Given the description of an element on the screen output the (x, y) to click on. 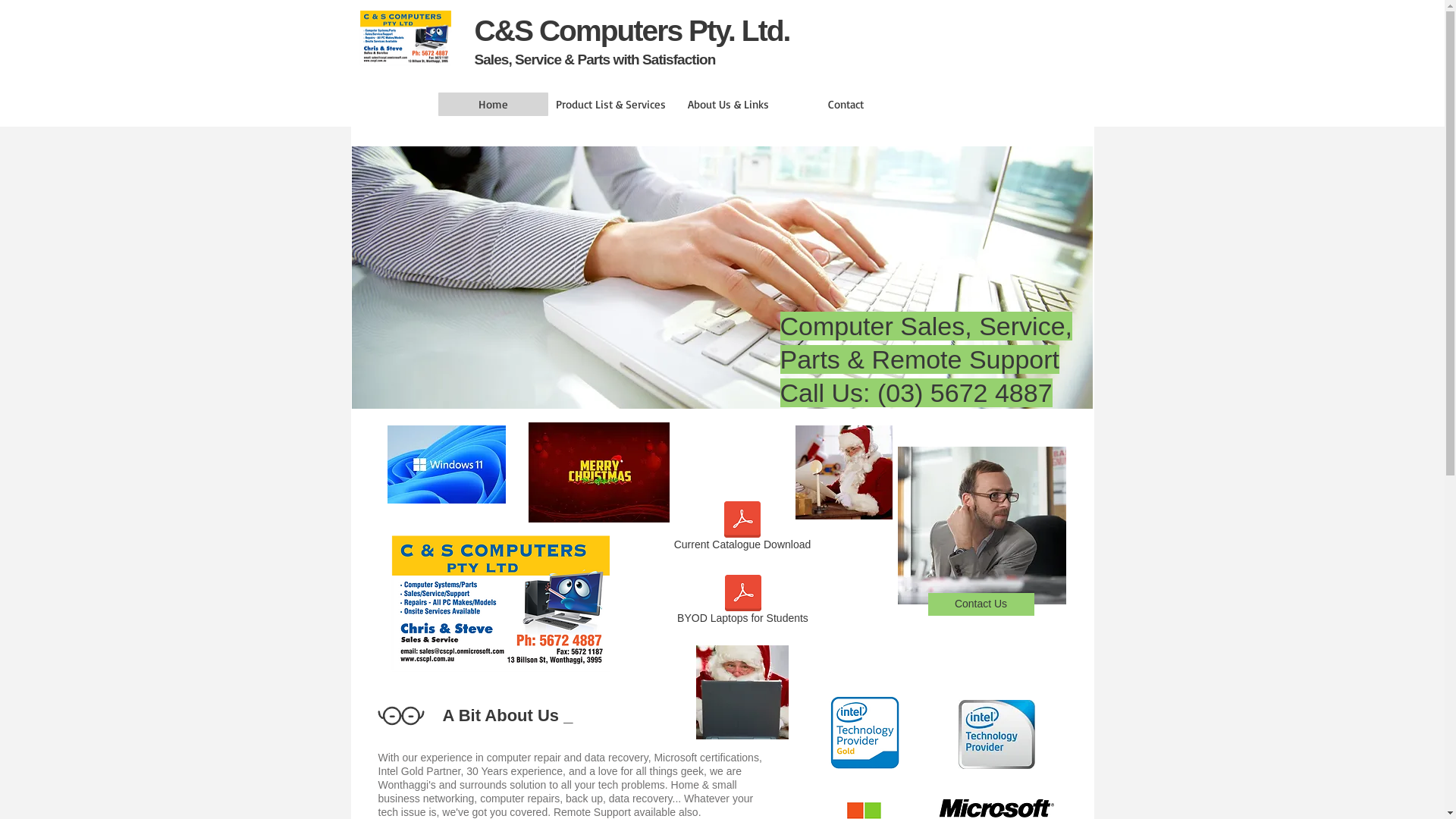
Product List & Services Element type: text (610, 104)
Contact Element type: text (845, 104)
BYOD Laptops for Students Element type: text (741, 602)
Current Catalogue Download Element type: text (742, 528)
About Us & Links Element type: text (728, 104)
Contact Us Element type: text (981, 604)
Home Element type: text (493, 104)
